Given the description of an element on the screen output the (x, y) to click on. 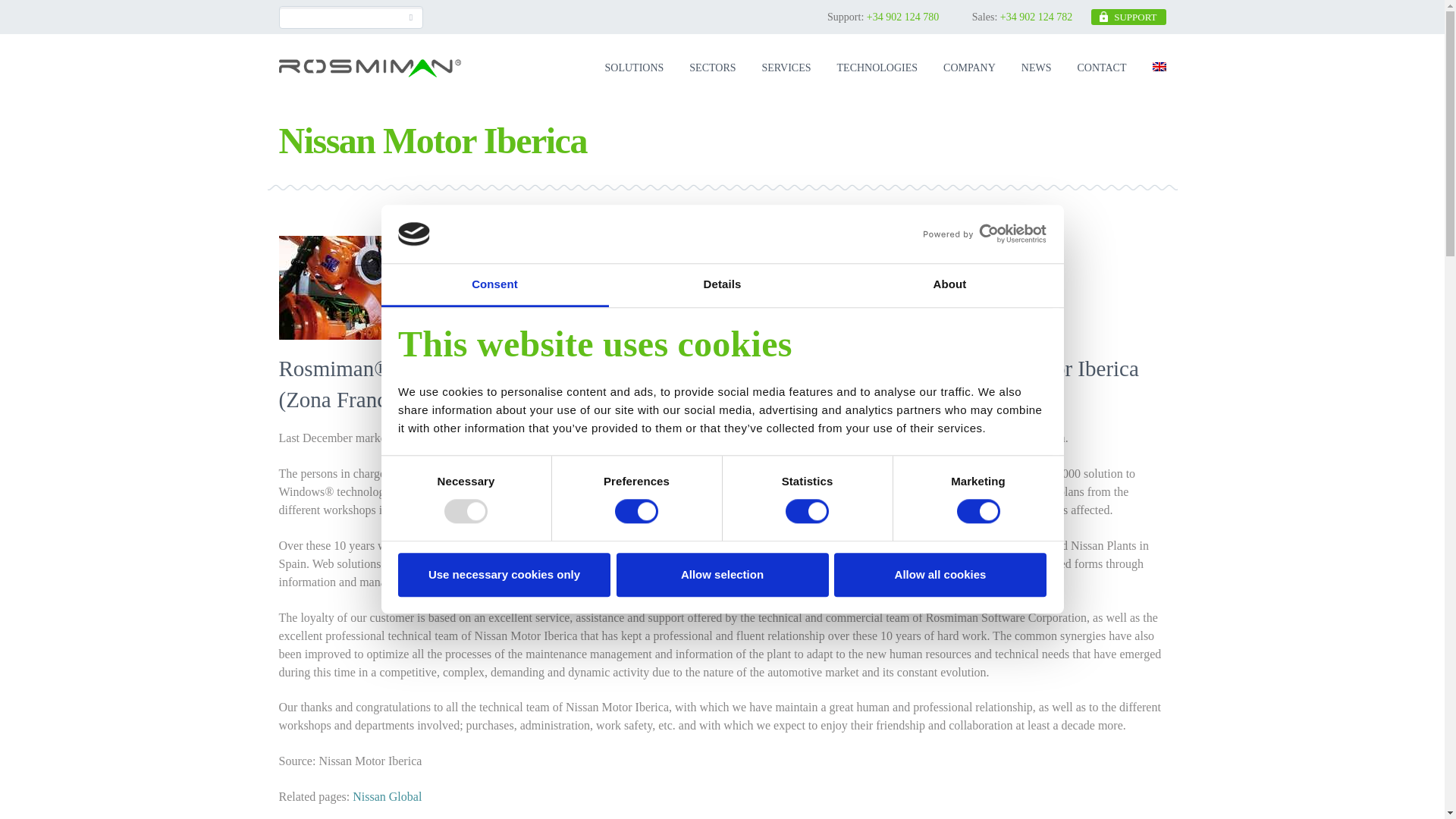
Details (721, 285)
About (948, 285)
Consent (494, 285)
